Given the description of an element on the screen output the (x, y) to click on. 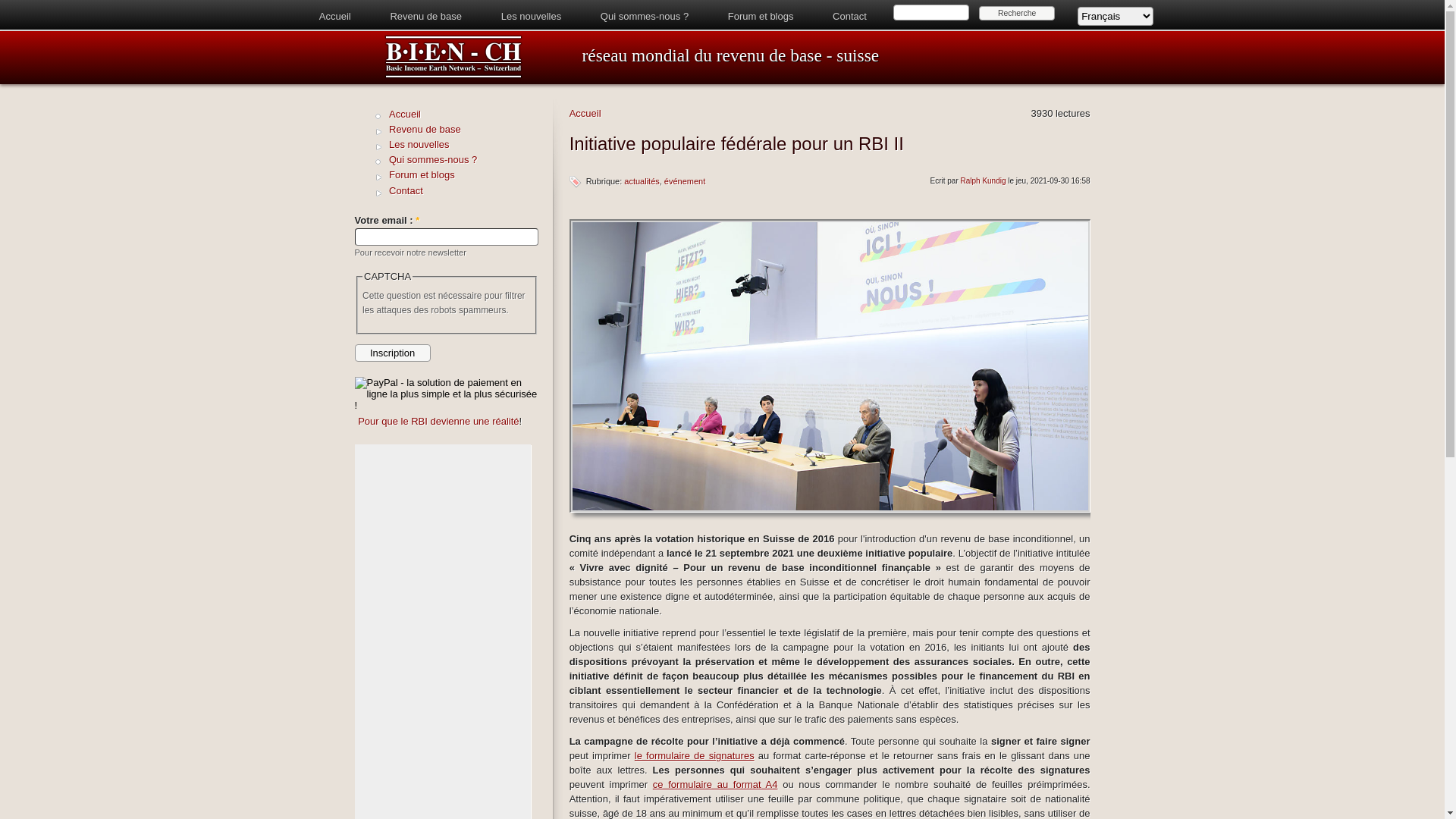
Revenu de base Element type: text (425, 16)
Revenu de base Element type: text (463, 129)
Les nouvelles Element type: text (531, 16)
Qui sommes-nous ? Element type: text (463, 159)
Forum et blogs Element type: text (463, 175)
Accueil Element type: hover (452, 75)
Contact Element type: text (463, 191)
Inscription Element type: text (392, 352)
Accueil Element type: text (463, 114)
ce formulaire au format A4 Element type: text (715, 784)
Accueil Element type: text (585, 113)
Forum et blogs Element type: text (760, 16)
Ralph Kundig Element type: text (983, 180)
Qui sommes-nous ? Element type: text (644, 16)
le formulaire de signatures Element type: text (694, 755)
Les nouvelles Element type: text (463, 144)
Accueil Element type: text (334, 16)
Contact Element type: text (849, 16)
Recherche Element type: text (1016, 13)
Entrez les termes que vous voulez rechercher. Element type: hover (931, 12)
